Given the description of an element on the screen output the (x, y) to click on. 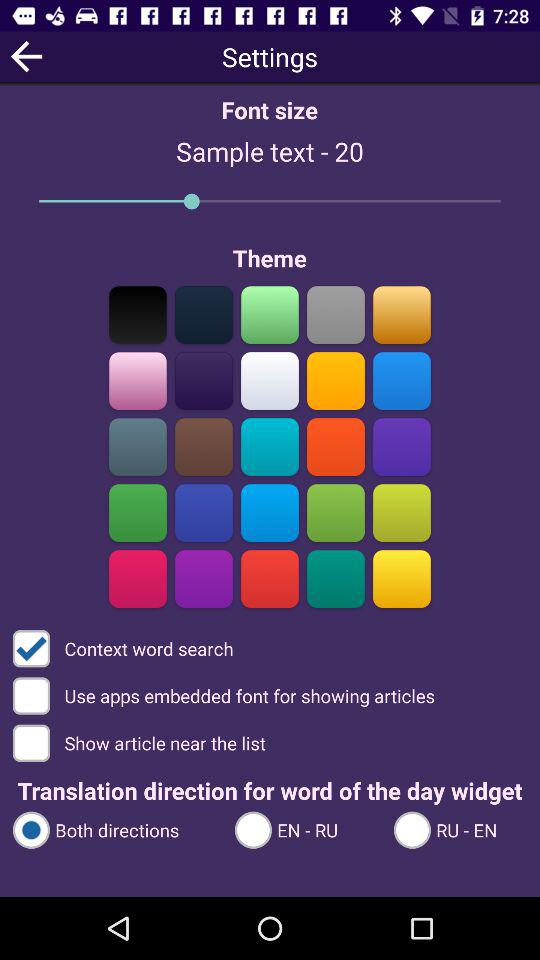
toggle selected color theme (335, 380)
